Given the description of an element on the screen output the (x, y) to click on. 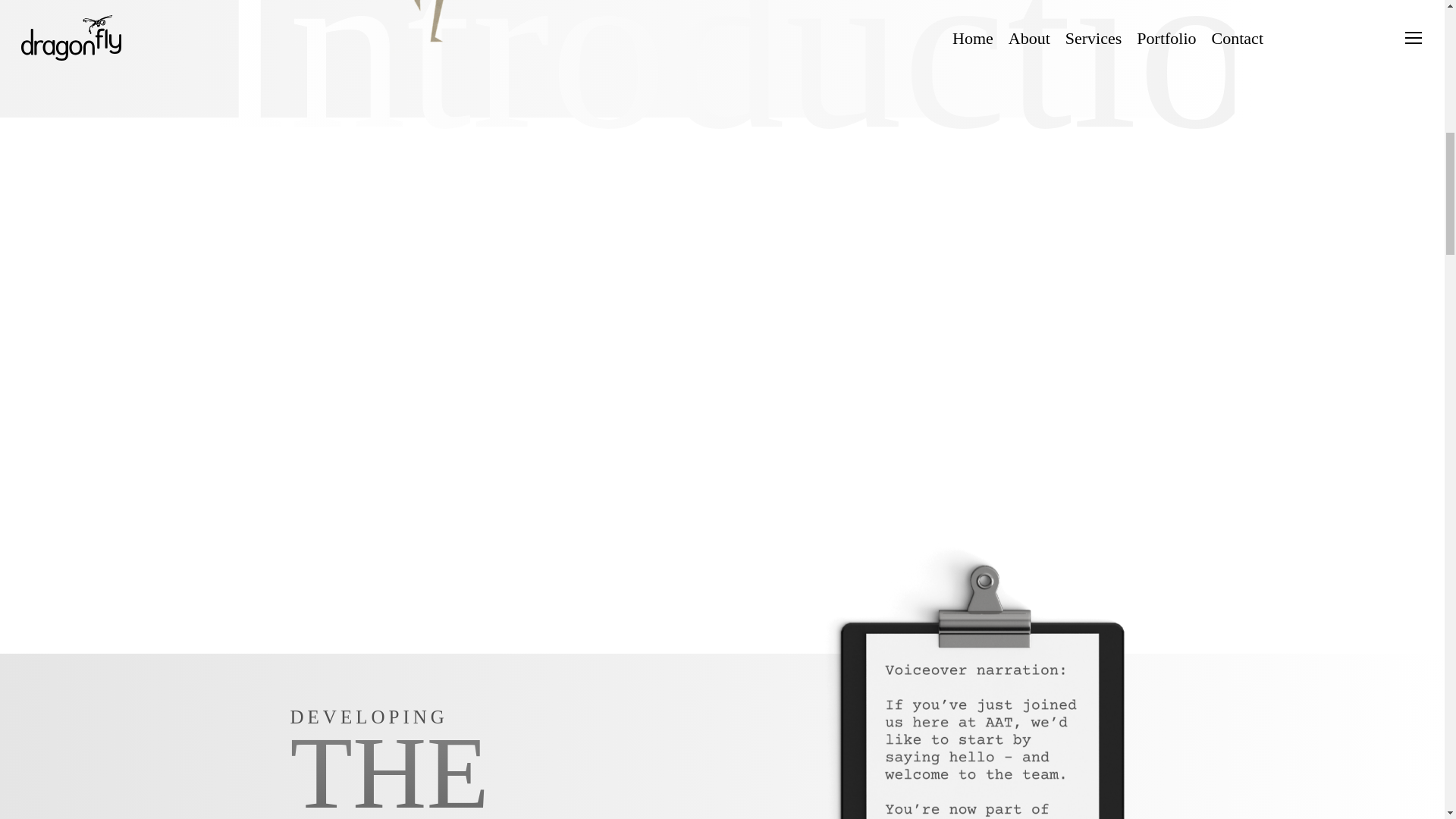
Aat Hand-Drawn Animated Character (532, 26)
